Given the description of an element on the screen output the (x, y) to click on. 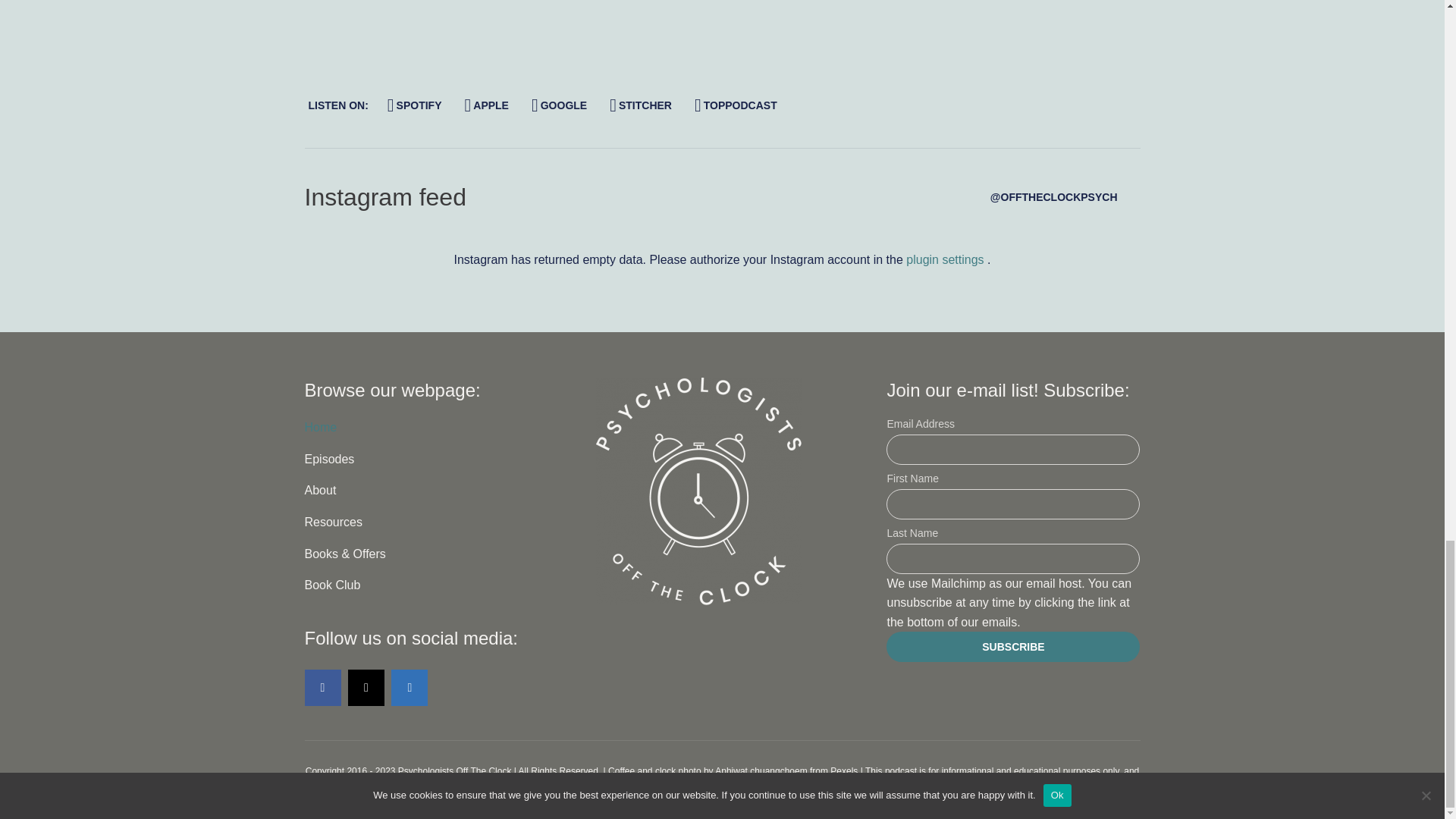
Linkedin (409, 687)
Subscribe (1013, 646)
Facebook (322, 687)
Instagram (365, 687)
